Given the description of an element on the screen output the (x, y) to click on. 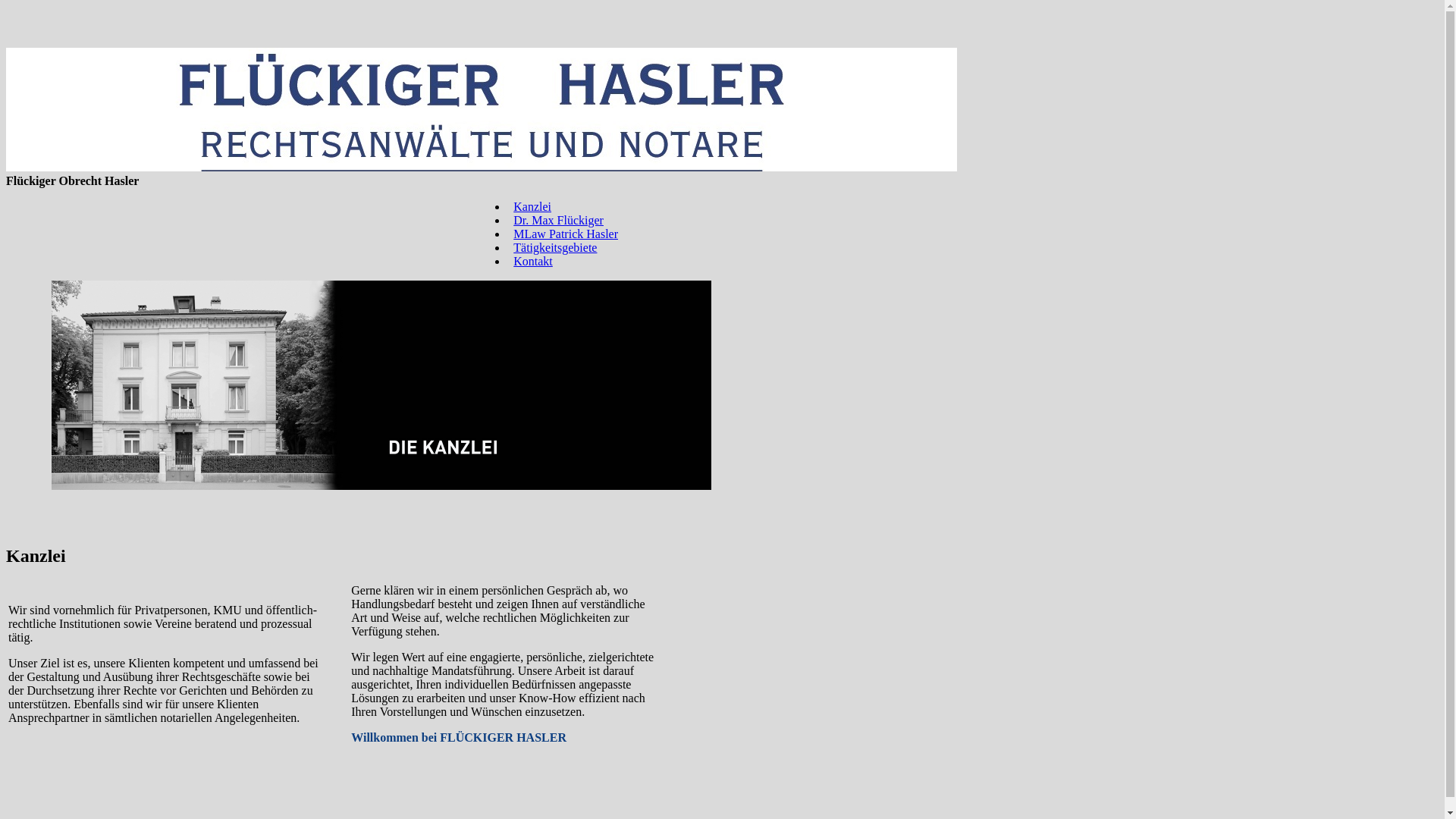
Kanzlei Element type: text (532, 206)
MLaw Patrick Hasler Element type: text (565, 233)
Kontakt Element type: text (532, 260)
